Given the description of an element on the screen output the (x, y) to click on. 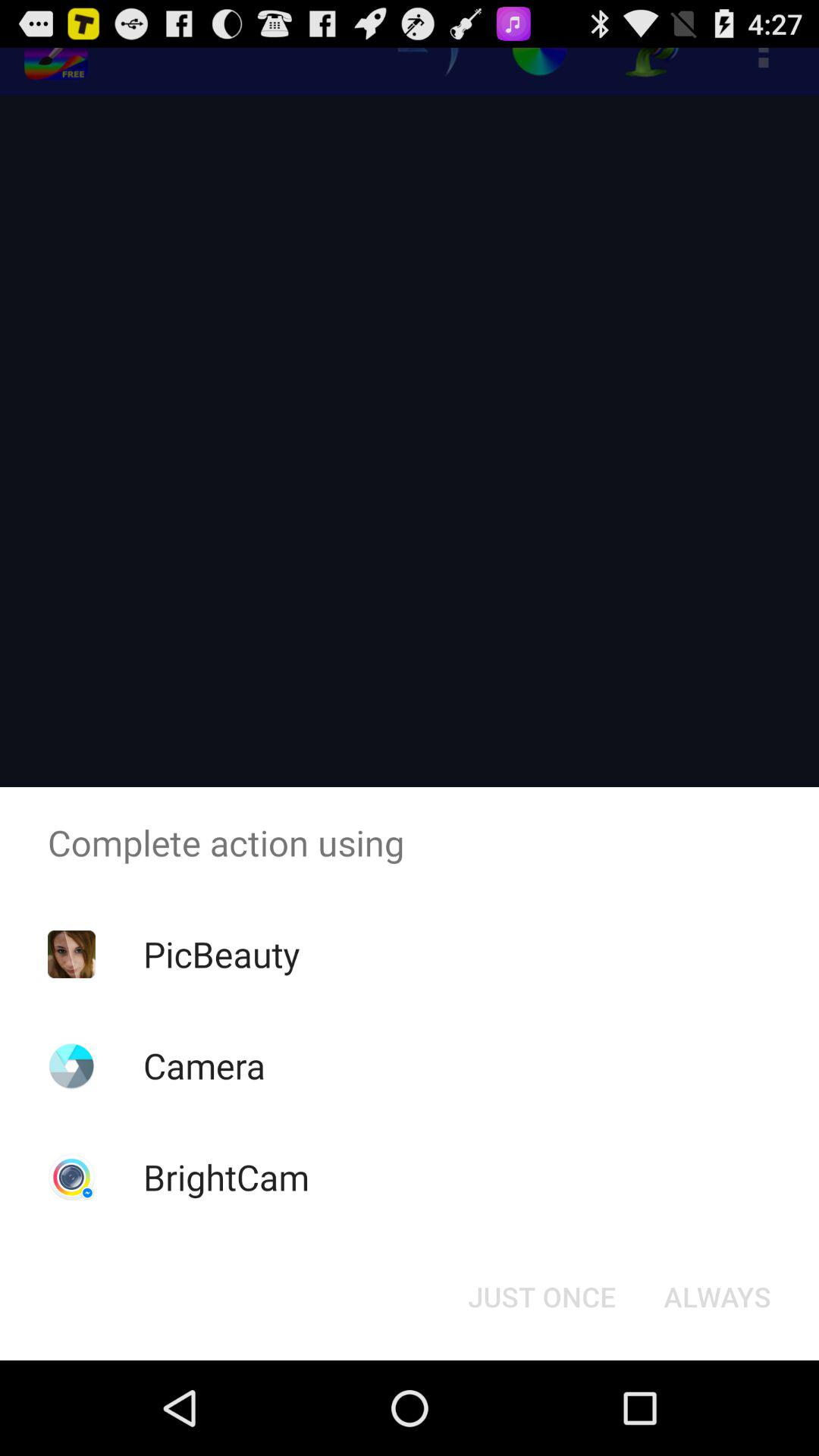
launch the button next to the always item (541, 1296)
